Given the description of an element on the screen output the (x, y) to click on. 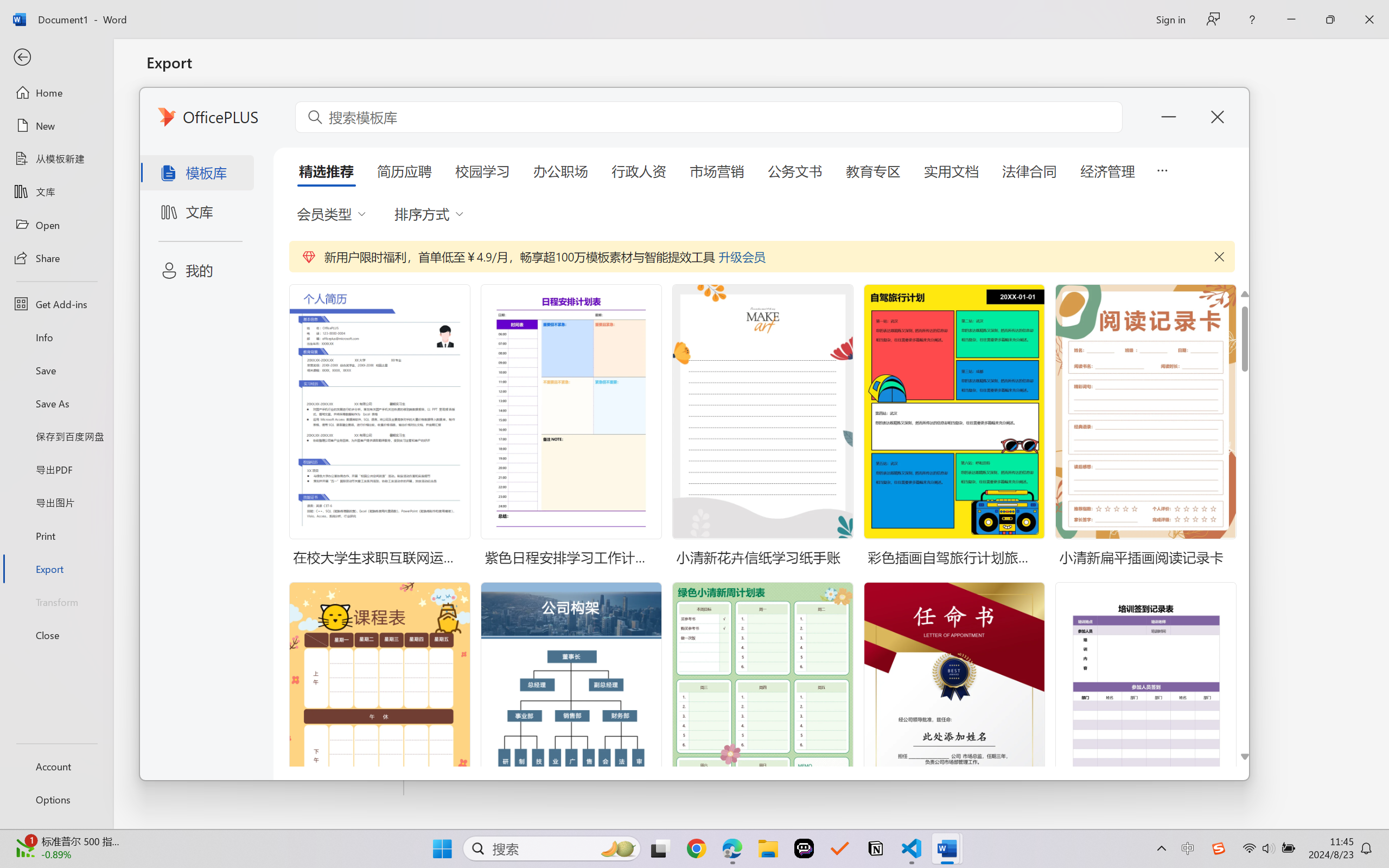
Go to the Our process page (763, 533)
System (6, 6)
Our approach (273, 71)
Who is my administrator? - Google Account Help (351, 12)
Our policies (335, 71)
Tools & programs (472, 71)
Go to the Reporting and appeals page (615, 533)
Forward (31, 37)
Create your Google Account (426, 12)
Sign in - Google Accounts (571, 12)
Subscriptions - YouTube (1012, 12)
View site information (74, 37)
